Given the description of an element on the screen output the (x, y) to click on. 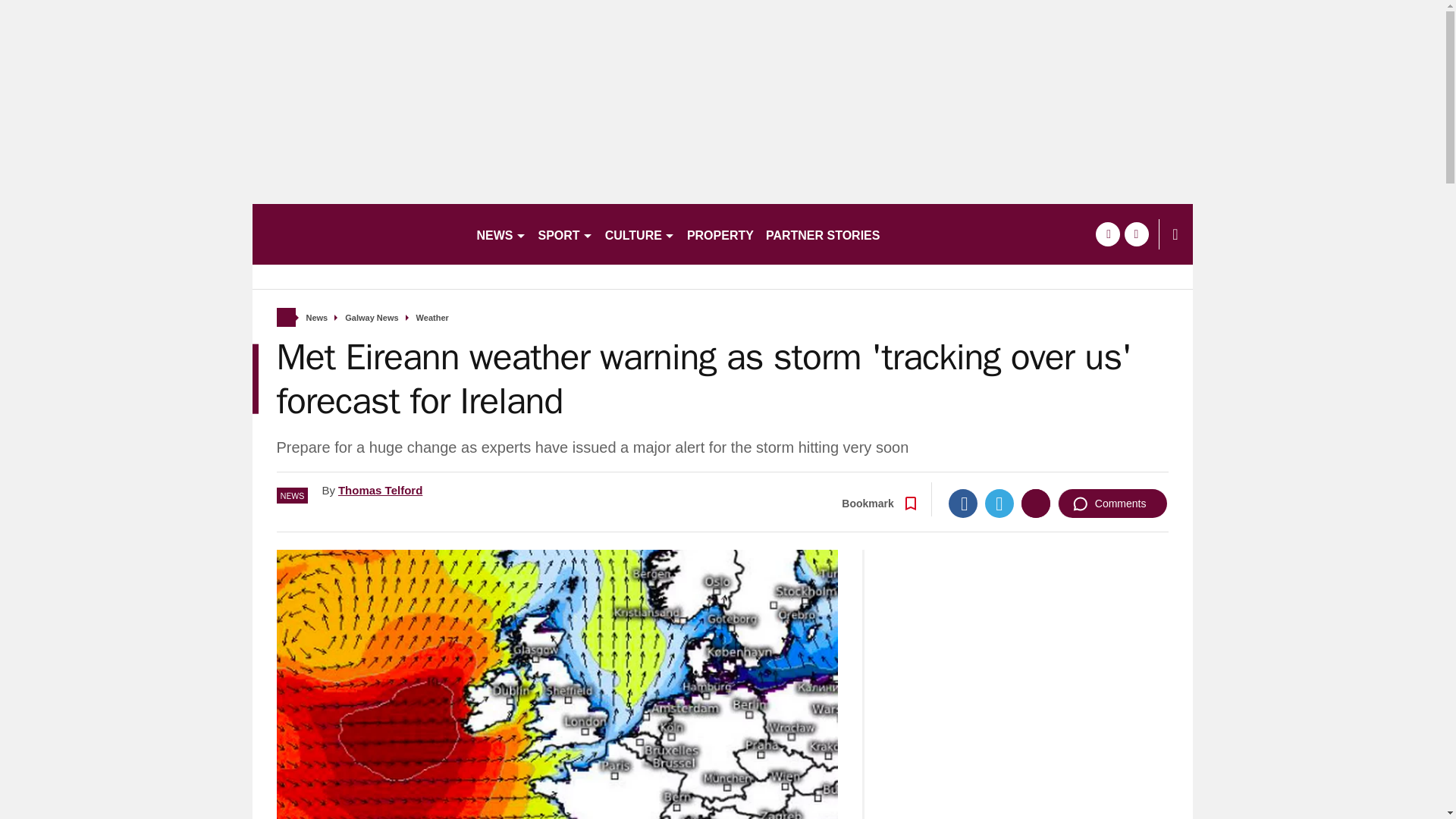
Twitter (999, 502)
facebook (1106, 233)
NEWS (500, 233)
PROPERTY (720, 233)
galwaybeo (357, 233)
SPORT (565, 233)
Facebook (962, 502)
PARTNER STORIES (823, 233)
CULTURE (639, 233)
Comments (1112, 502)
twitter (1136, 233)
